Given the description of an element on the screen output the (x, y) to click on. 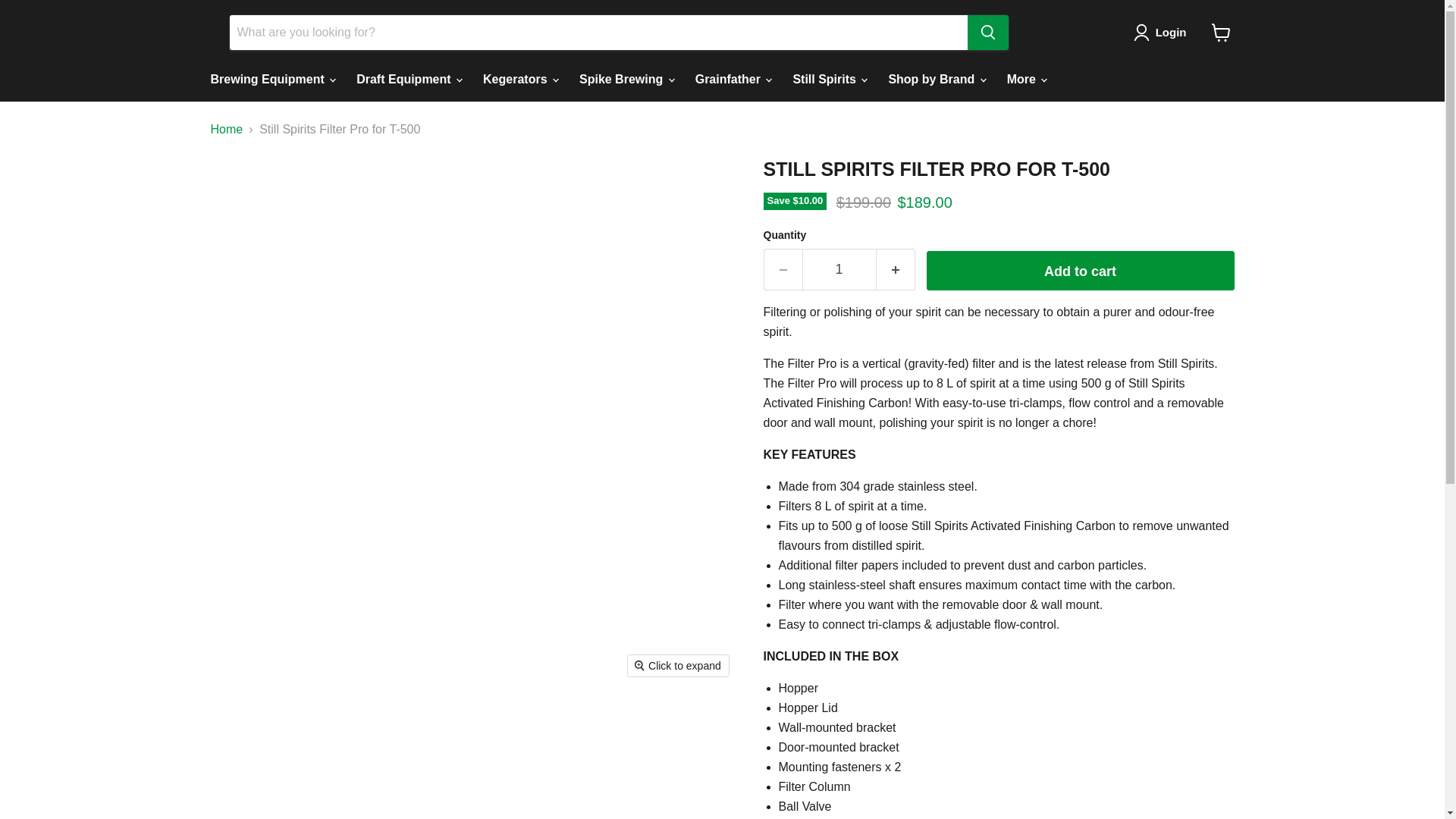
Login (1163, 32)
View cart (1221, 32)
1 (839, 269)
